Given the description of an element on the screen output the (x, y) to click on. 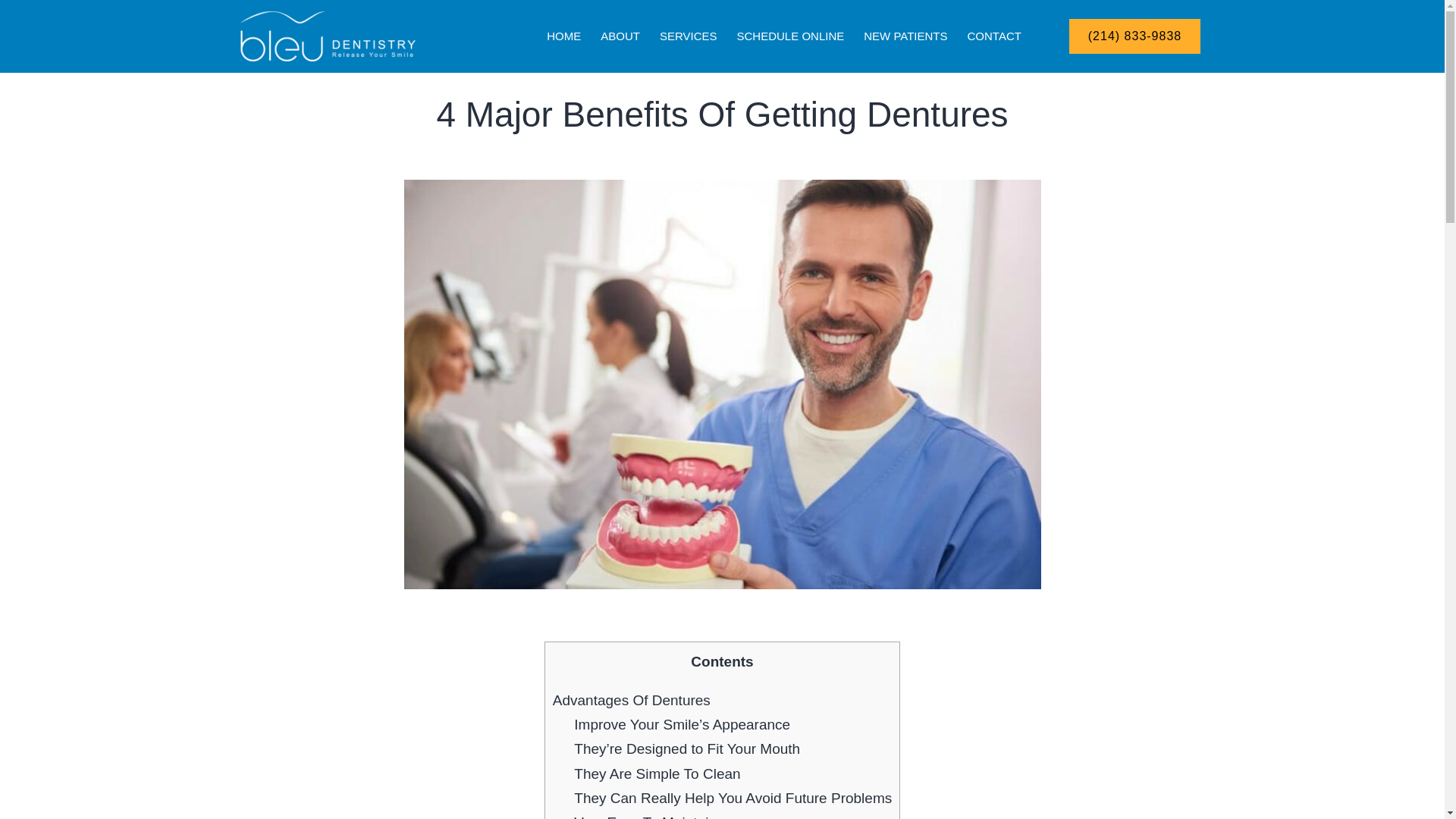
NEW PATIENTS (905, 36)
ABOUT (619, 36)
HOME (563, 36)
SCHEDULE ONLINE (790, 36)
SERVICES (688, 36)
CONTACT (994, 36)
